Given the description of an element on the screen output the (x, y) to click on. 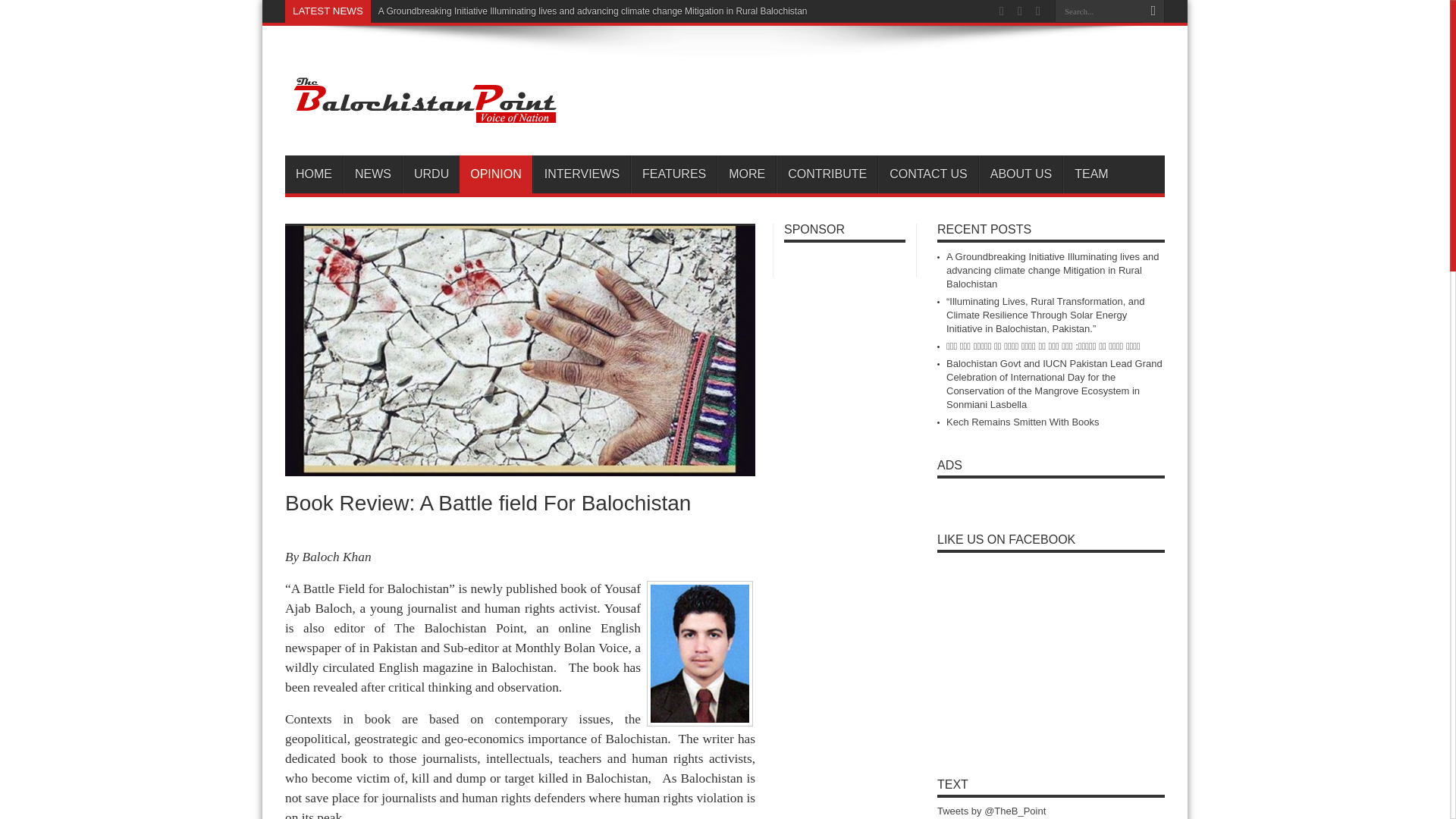
Search (1152, 11)
URDU (431, 174)
FEATURES (673, 174)
Search... (1097, 11)
NEWS (372, 174)
INTERVIEWS (581, 174)
HOME (313, 174)
OPINION (496, 174)
